Given the description of an element on the screen output the (x, y) to click on. 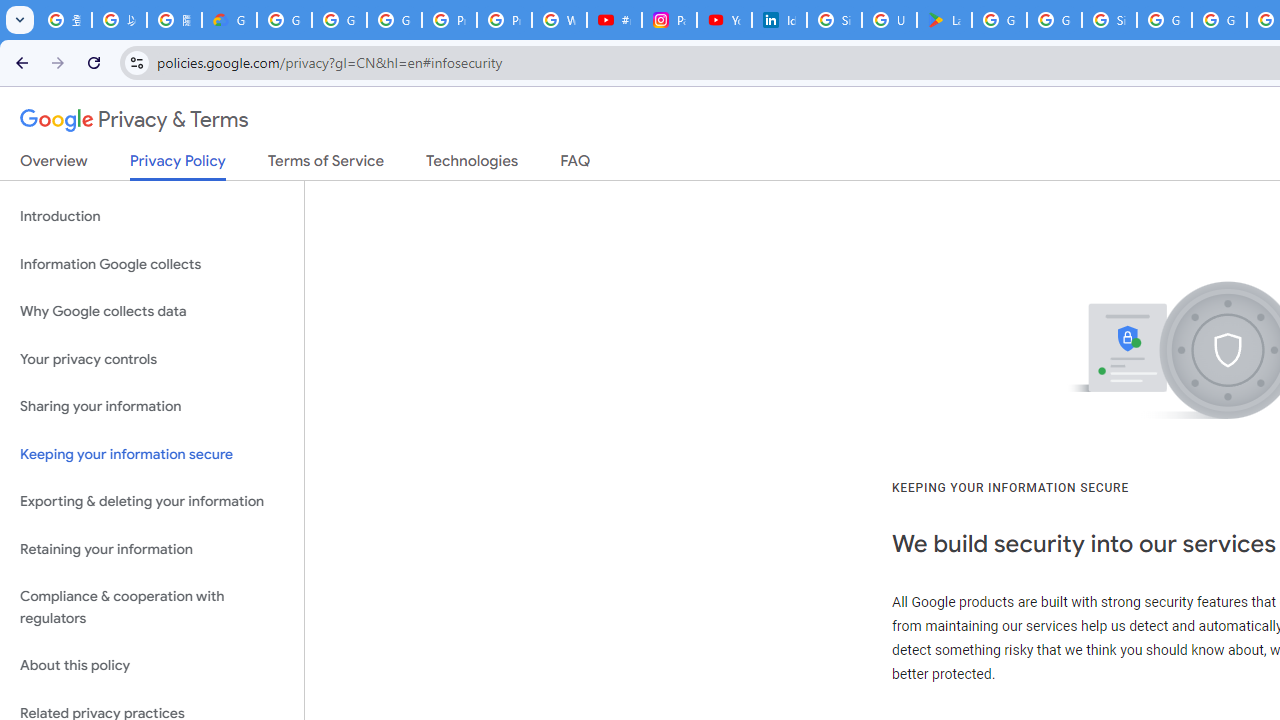
Your privacy controls (152, 358)
Sign in - Google Accounts (833, 20)
About this policy (152, 666)
YouTube Culture & Trends - On The Rise: Handcam Videos (724, 20)
Keeping your information secure (152, 453)
Sharing your information (152, 407)
Privacy Help Center - Policies Help (504, 20)
